Given the description of an element on the screen output the (x, y) to click on. 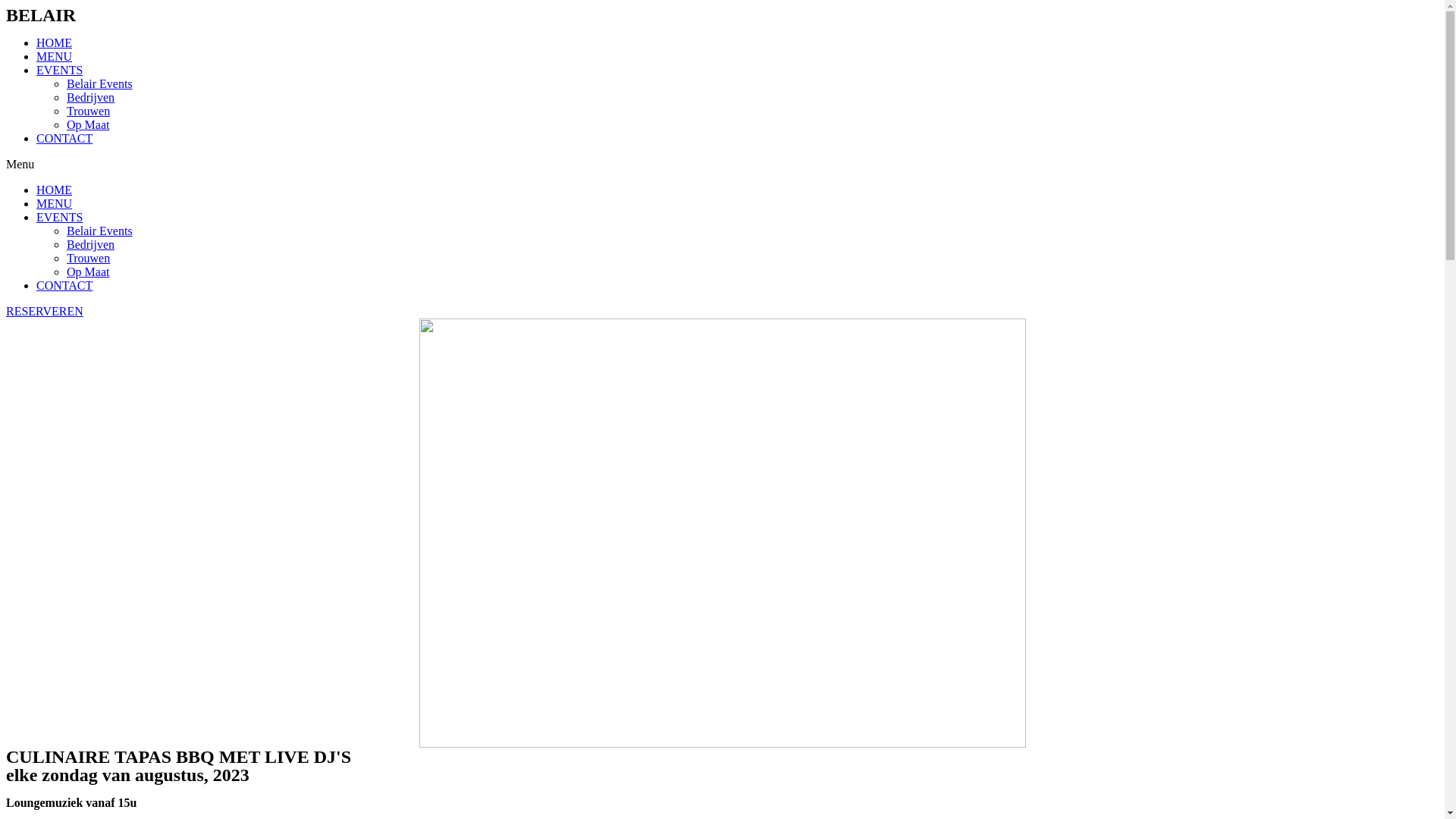
Trouwen Element type: text (87, 257)
MENU Element type: text (54, 203)
EVENTS Element type: text (59, 69)
CONTACT Element type: text (64, 137)
Bedrijven Element type: text (90, 97)
Belair Events Element type: text (99, 230)
Belair Events Element type: text (99, 83)
HOME Element type: text (54, 189)
Bedrijven Element type: text (90, 244)
EVENTS Element type: text (59, 216)
Trouwen Element type: text (87, 110)
CONTACT Element type: text (64, 285)
HOME Element type: text (54, 42)
RESERVEREN Element type: text (44, 310)
Op Maat Element type: text (87, 271)
MENU Element type: text (54, 56)
Op Maat Element type: text (87, 124)
